Given the description of an element on the screen output the (x, y) to click on. 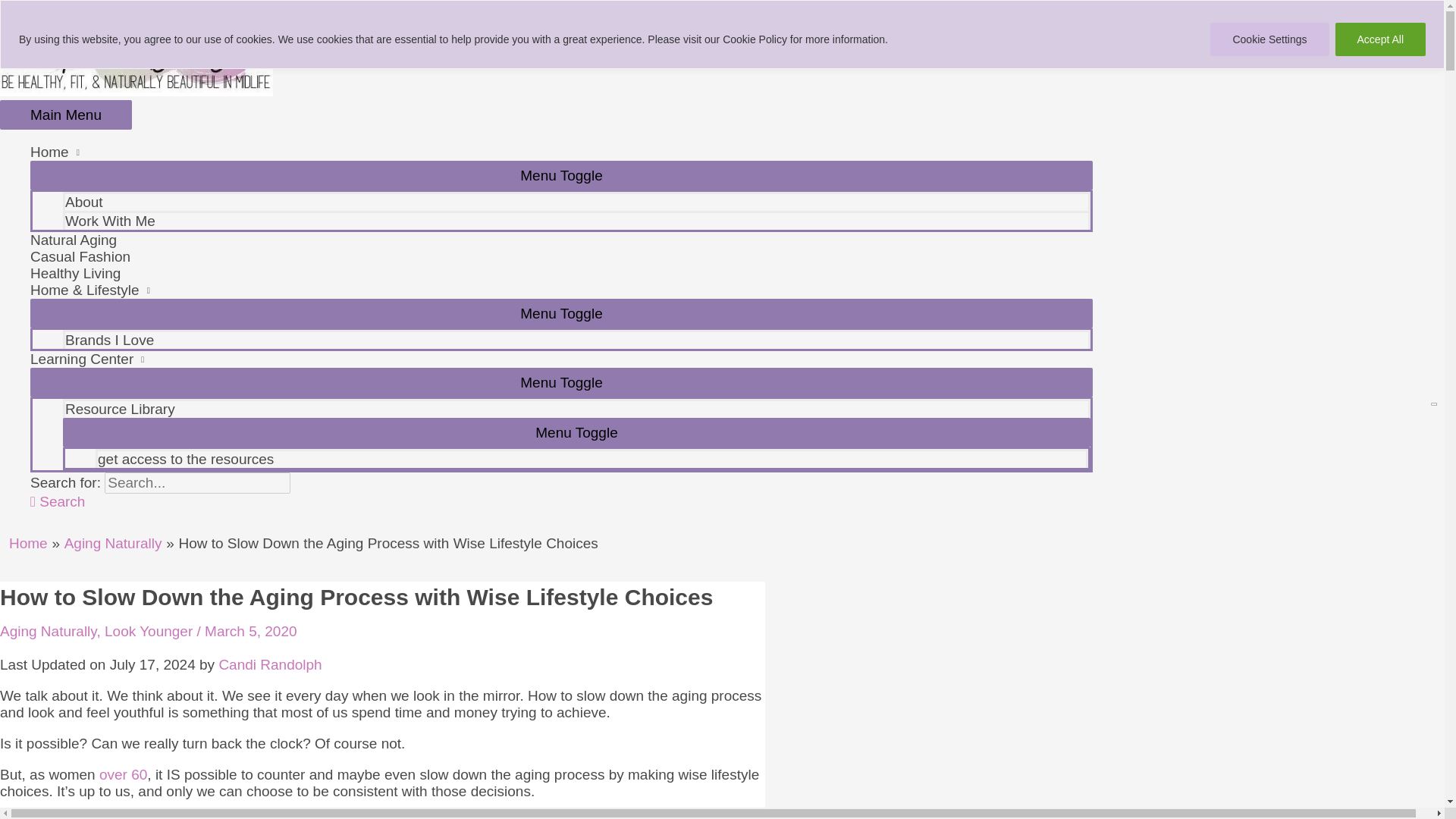
over 60 (123, 774)
Candi Randolph (269, 664)
Skip to content (48, 7)
Work With Me (576, 220)
Casual Fashion (561, 256)
Brands I Love (576, 339)
Main Menu (66, 114)
Search (57, 501)
Aging Naturally (112, 543)
Menu Toggle (576, 432)
